Given the description of an element on the screen output the (x, y) to click on. 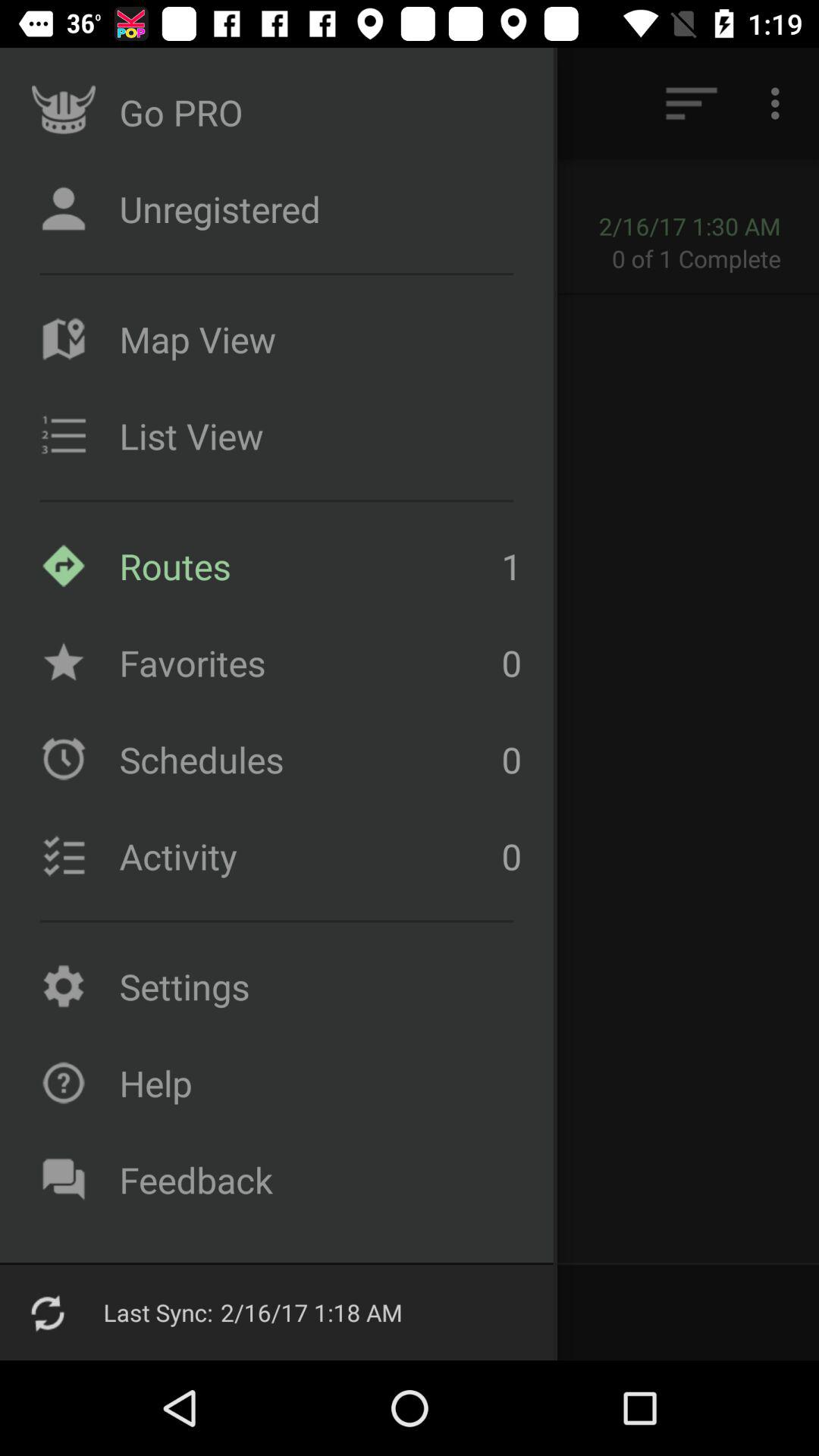
tap the 0 of 1 (705, 258)
